Given the description of an element on the screen output the (x, y) to click on. 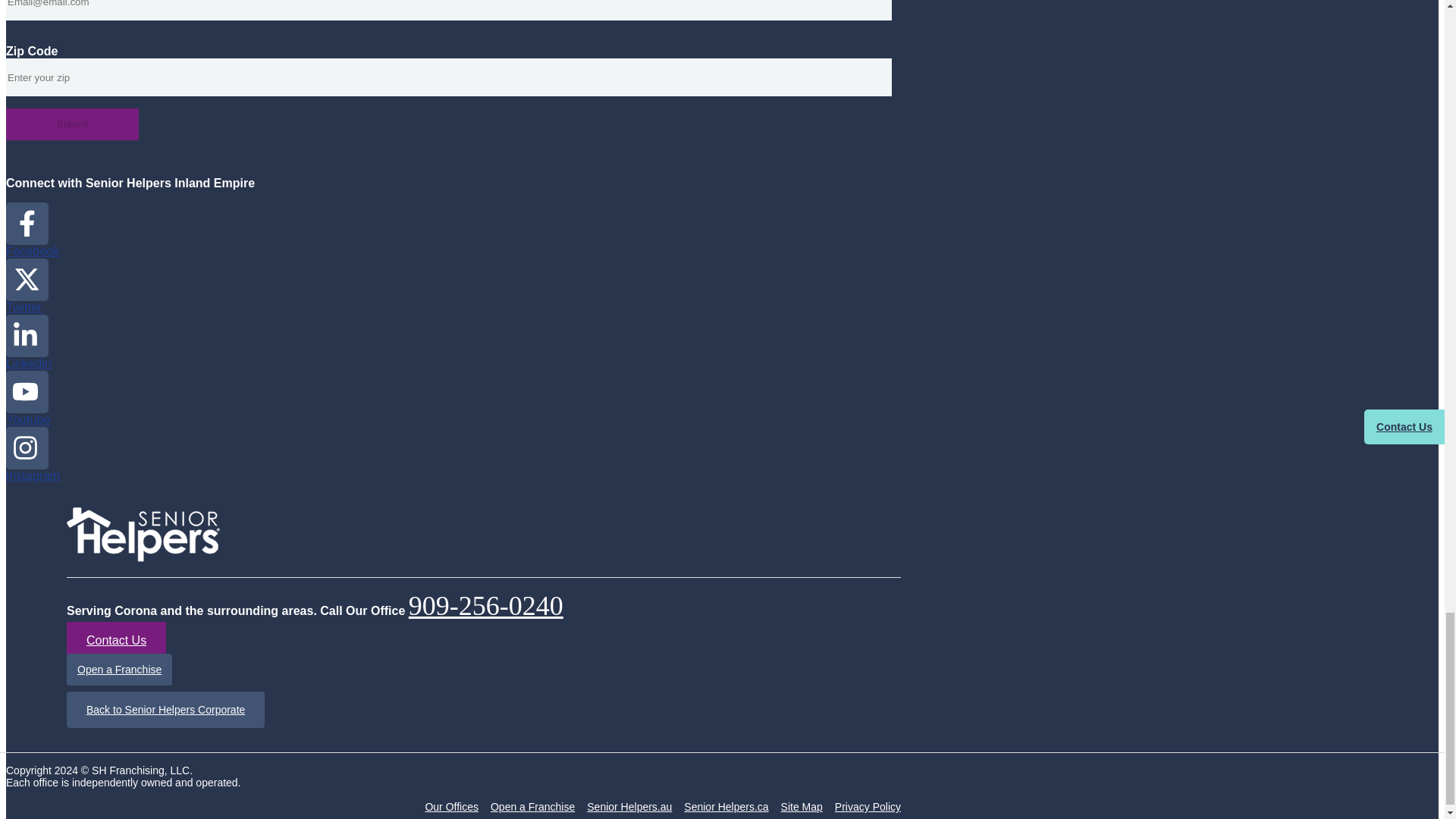
Youtube (27, 398)
Linkedin (27, 342)
Instagram (32, 454)
Twitter (26, 285)
Facebook (32, 229)
